Given the description of an element on the screen output the (x, y) to click on. 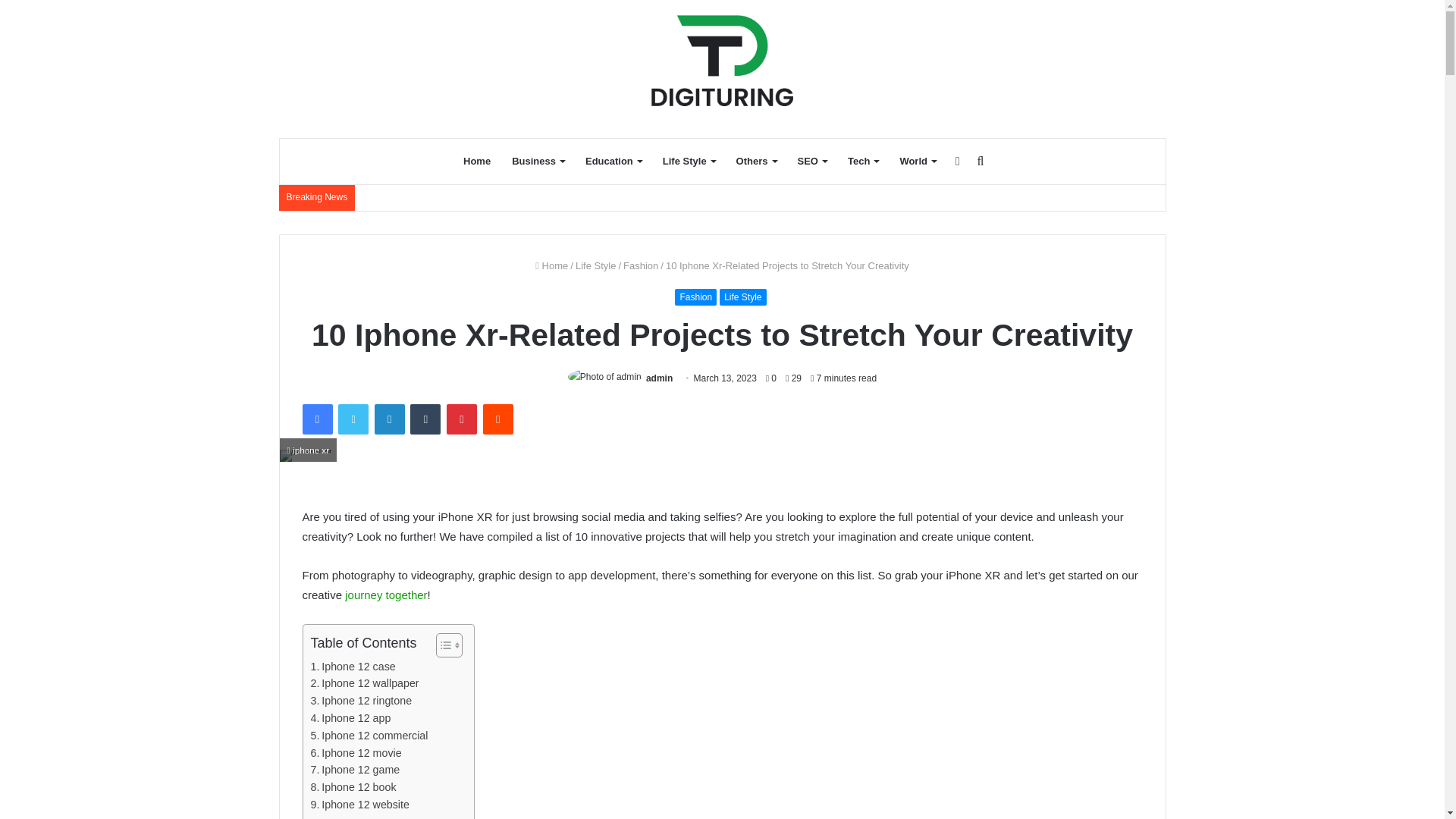
Iphone 12 ringtone (361, 701)
Iphone 12 wallpaper (365, 683)
Iphone 12 app (351, 718)
World (917, 161)
Home (476, 161)
Education (613, 161)
Business (537, 161)
Life Style (688, 161)
admin (659, 378)
Facebook (316, 419)
